Given the description of an element on the screen output the (x, y) to click on. 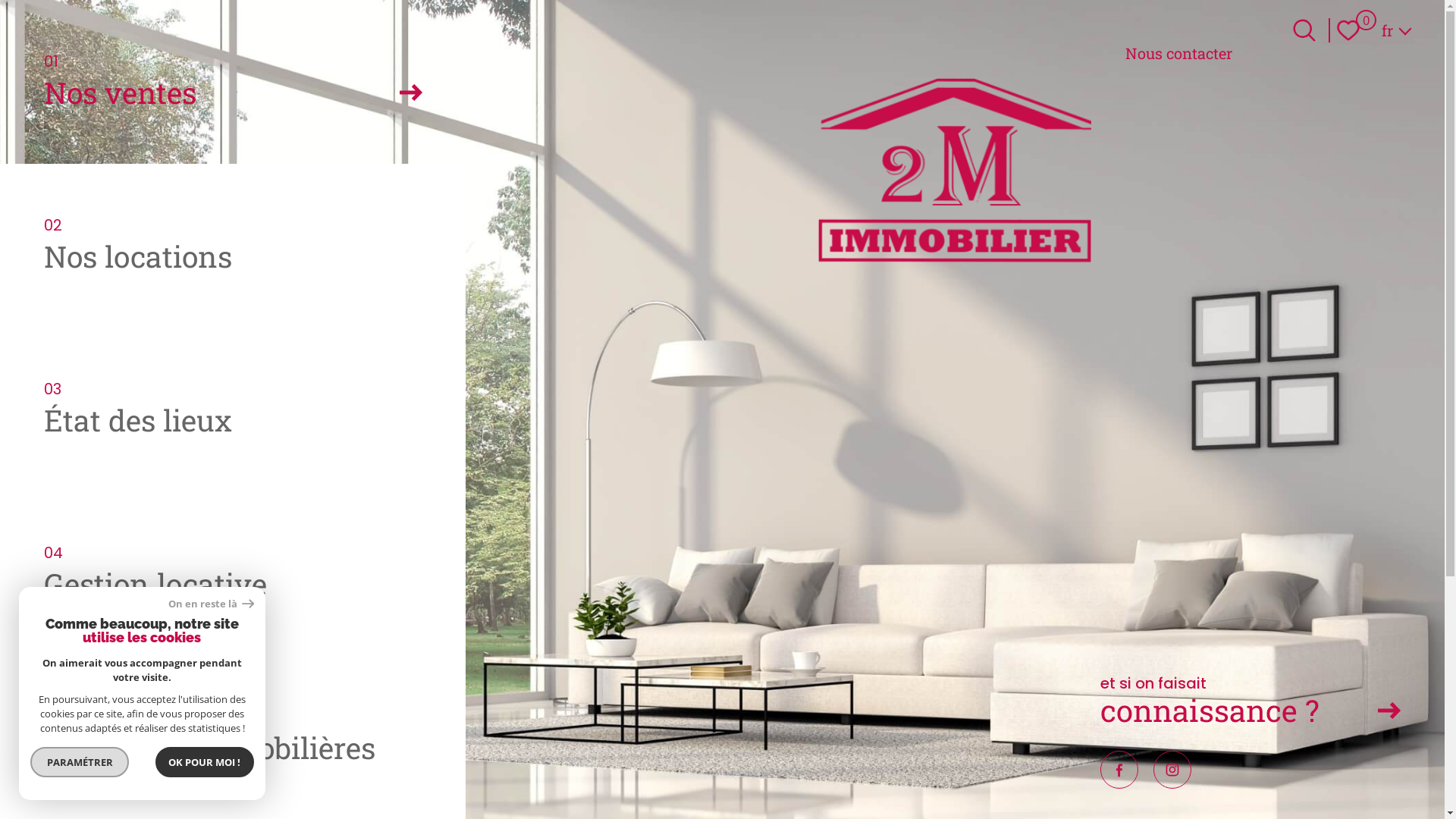
01
nos ventes Element type: text (232, 81)
Partenaires Element type: text (958, 782)
Politique RGPD Element type: text (1071, 782)
02
nos locations Element type: text (232, 245)
Visiter notre page Instagram Element type: hover (1172, 769)
Honoraires Locaux Element type: text (619, 782)
05 62 75 37 34 Element type: text (303, 697)
Plan du site Element type: text (807, 782)
OK POUR MOI ! Element type: text (204, 761)
Honoraires Habitation Element type: text (721, 782)
Nous contacter Element type: text (1178, 52)
Cookies Element type: text (1134, 782)
Admin Element type: text (1011, 782)
0 Element type: text (1352, 30)
Visiter notre page Facebook Element type: hover (1119, 769)
et si on faisait
connaissance ? Element type: text (1250, 703)
04
gestion locative Element type: text (232, 573)
